Given the description of an element on the screen output the (x, y) to click on. 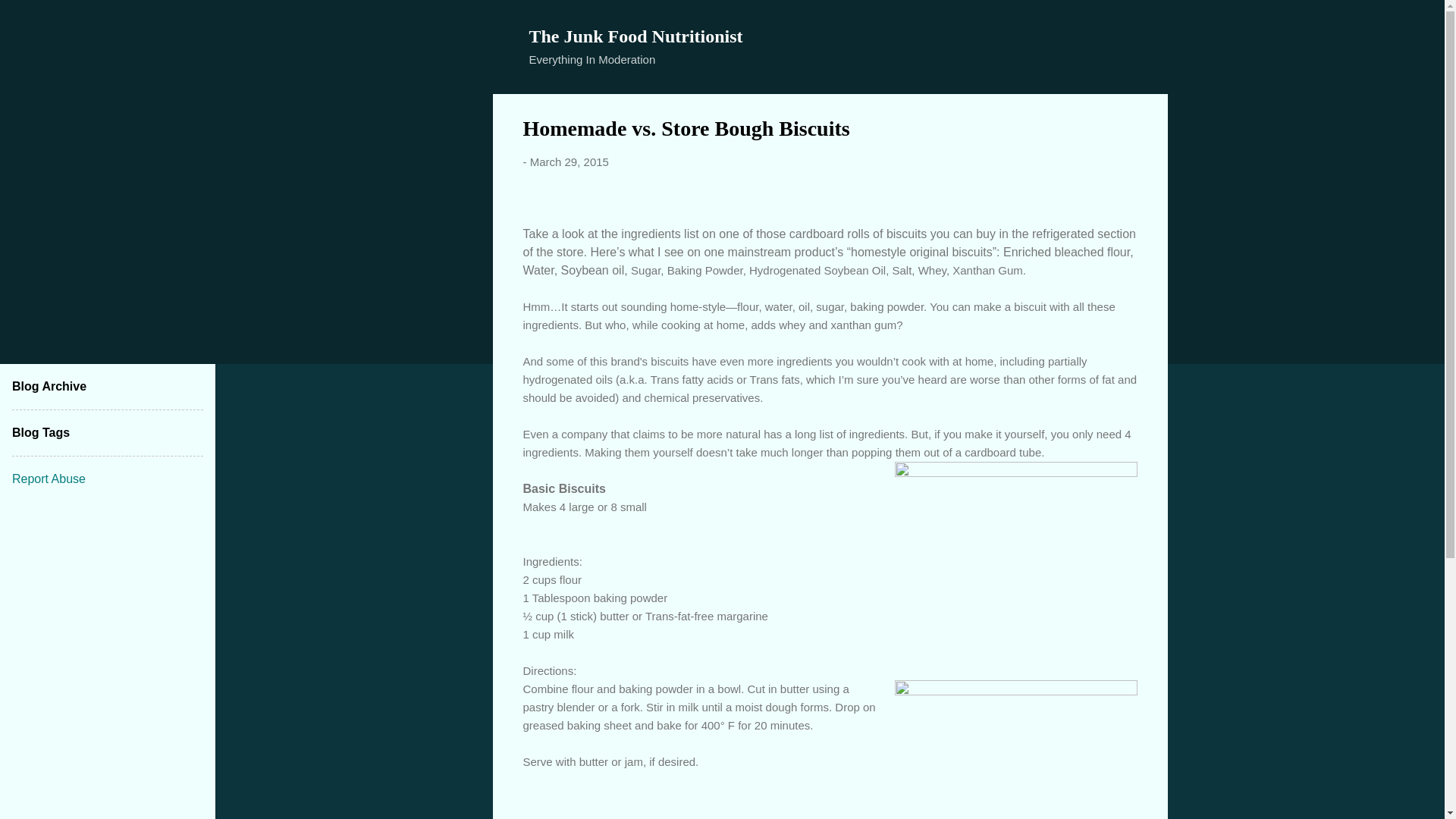
The Junk Food Nutritionist (635, 35)
permanent link (568, 161)
March 29, 2015 (568, 161)
